Given the description of an element on the screen output the (x, y) to click on. 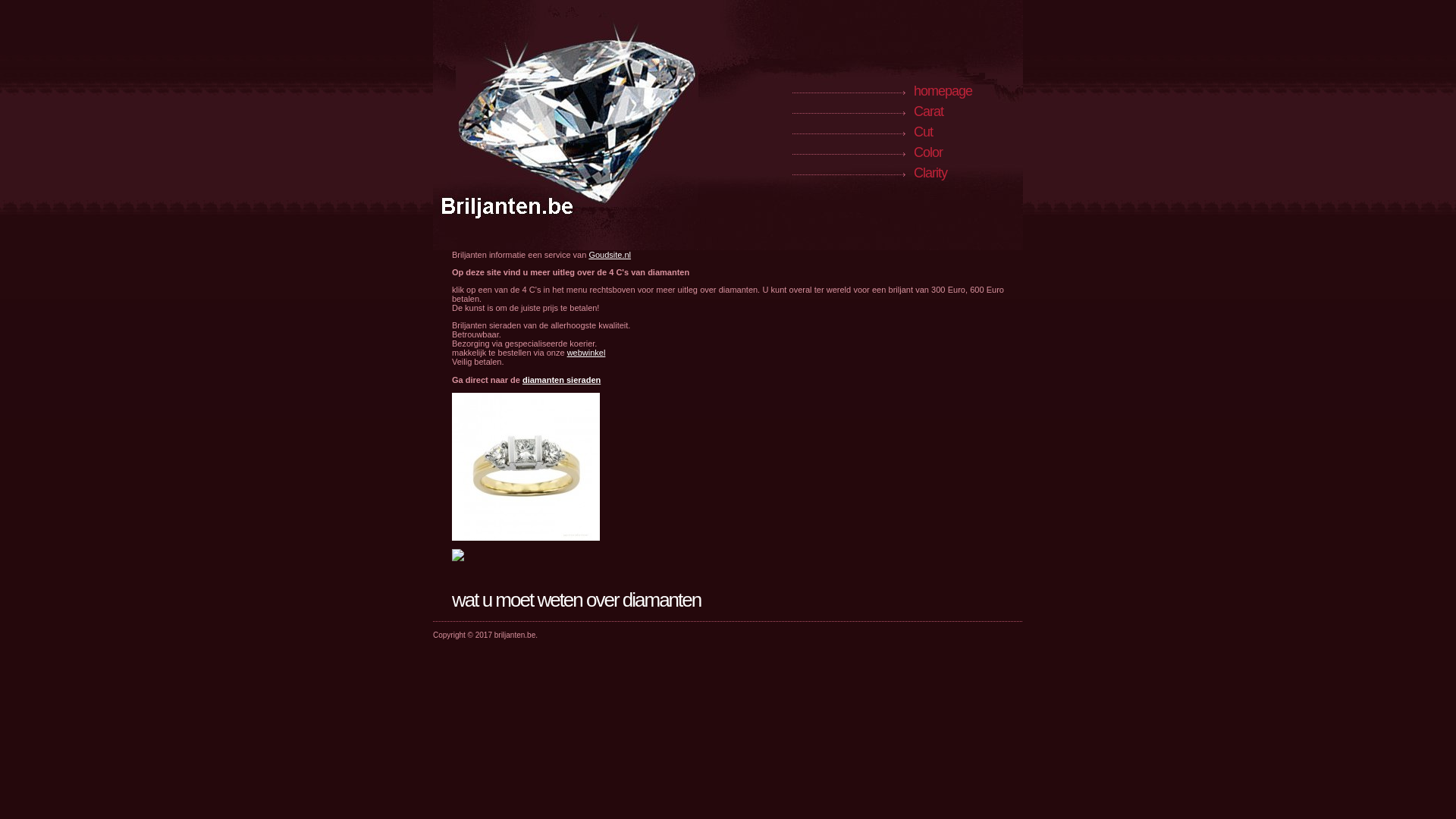
Color Element type: text (927, 151)
homepage Element type: text (942, 90)
Carat Element type: text (928, 110)
webwinkel Element type: text (586, 352)
diamanten sieraden Element type: text (561, 379)
Clarity Element type: text (930, 172)
Cut Element type: text (922, 131)
Goudsite.nl Element type: text (609, 254)
